Given the description of an element on the screen output the (x, y) to click on. 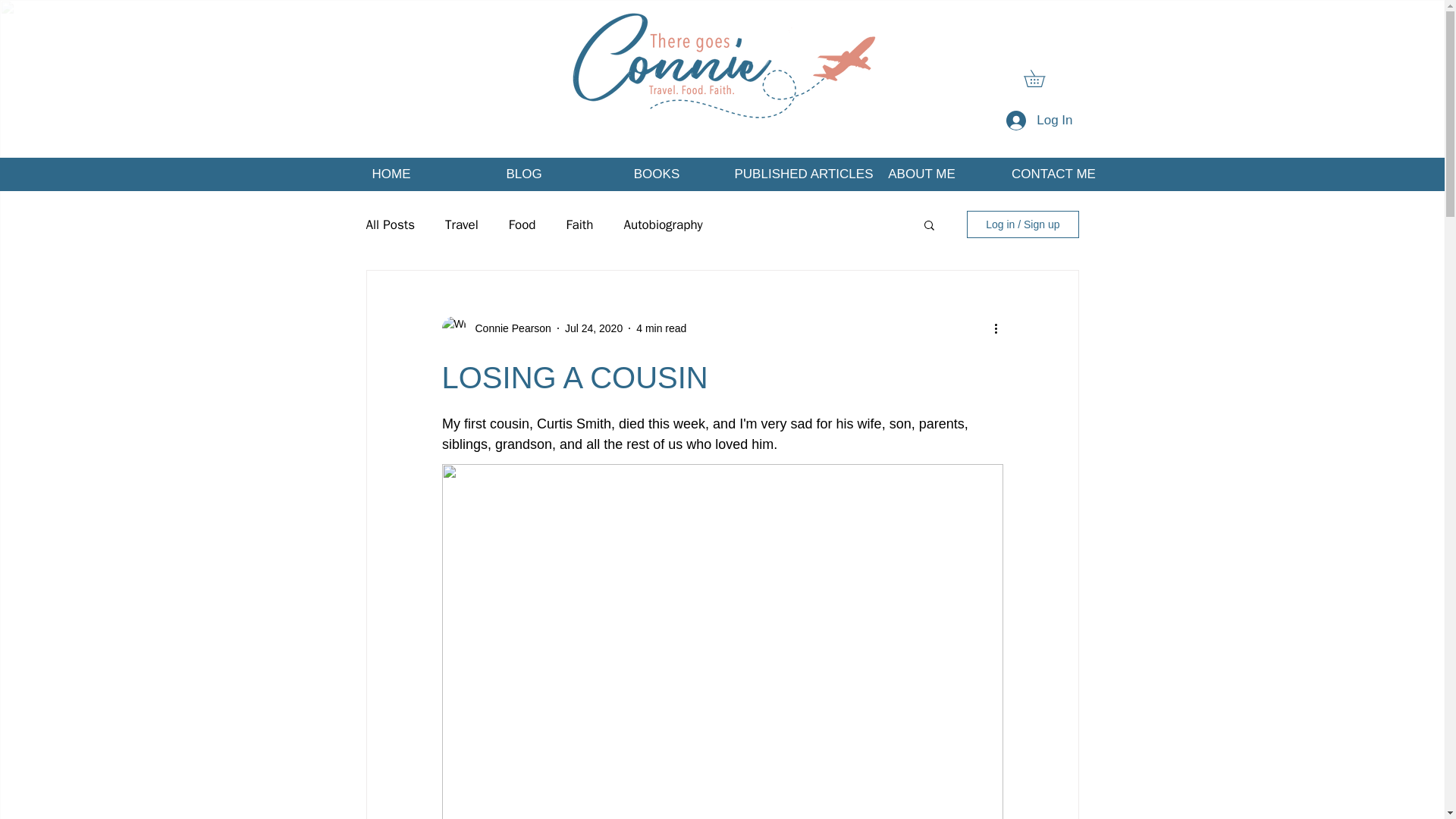
Travel (462, 224)
All Posts (389, 224)
Jul 24, 2020 (593, 328)
BOOKS (655, 174)
PUBLISHED ARTICLES (789, 174)
Log In (1039, 120)
CONTACT ME (1053, 174)
4 min read (660, 328)
Connie Pearson (507, 328)
BLOG (524, 174)
